Given the description of an element on the screen output the (x, y) to click on. 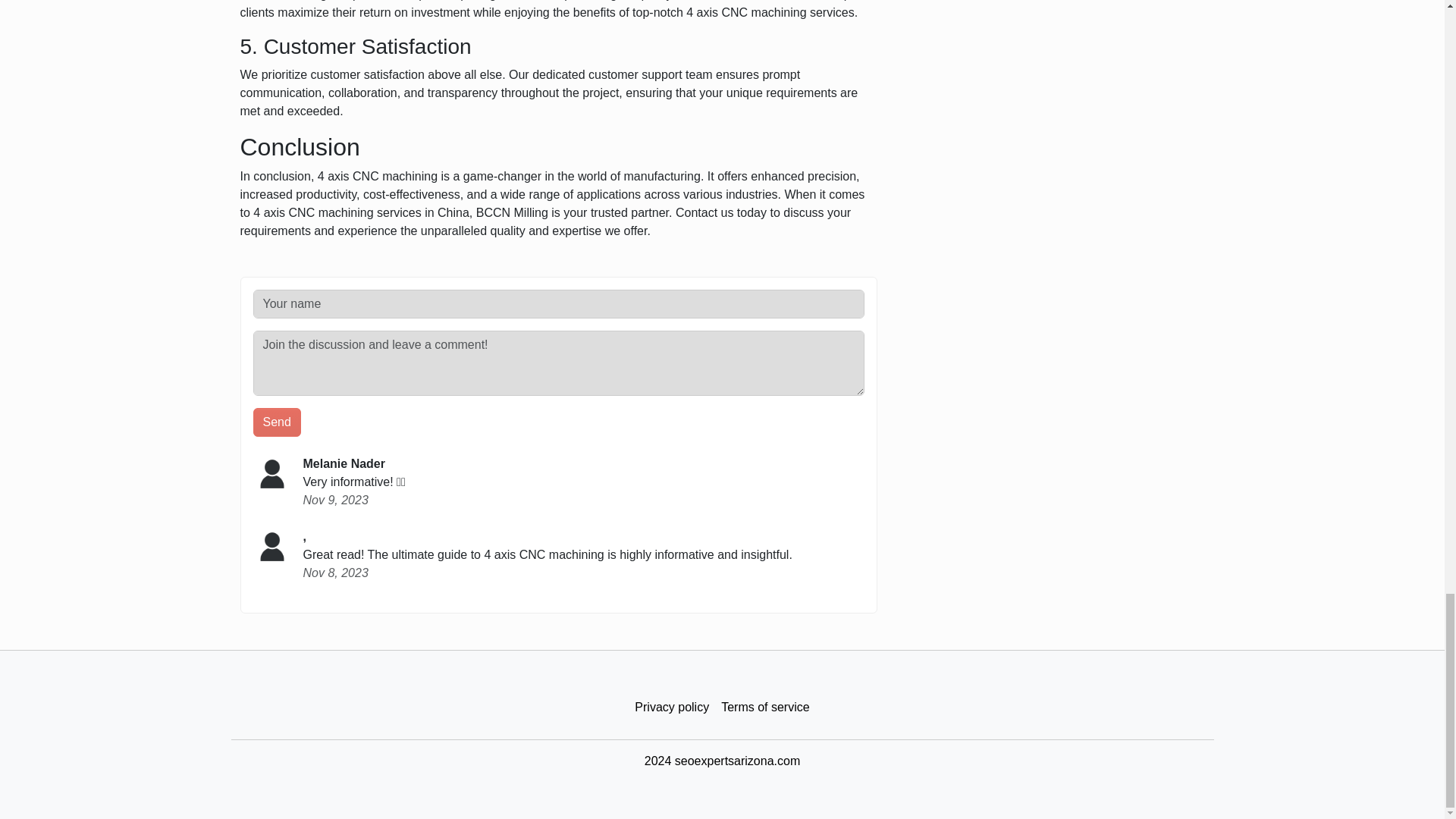
Terms of service (764, 707)
Send (277, 421)
Privacy policy (671, 707)
Send (277, 421)
